Given the description of an element on the screen output the (x, y) to click on. 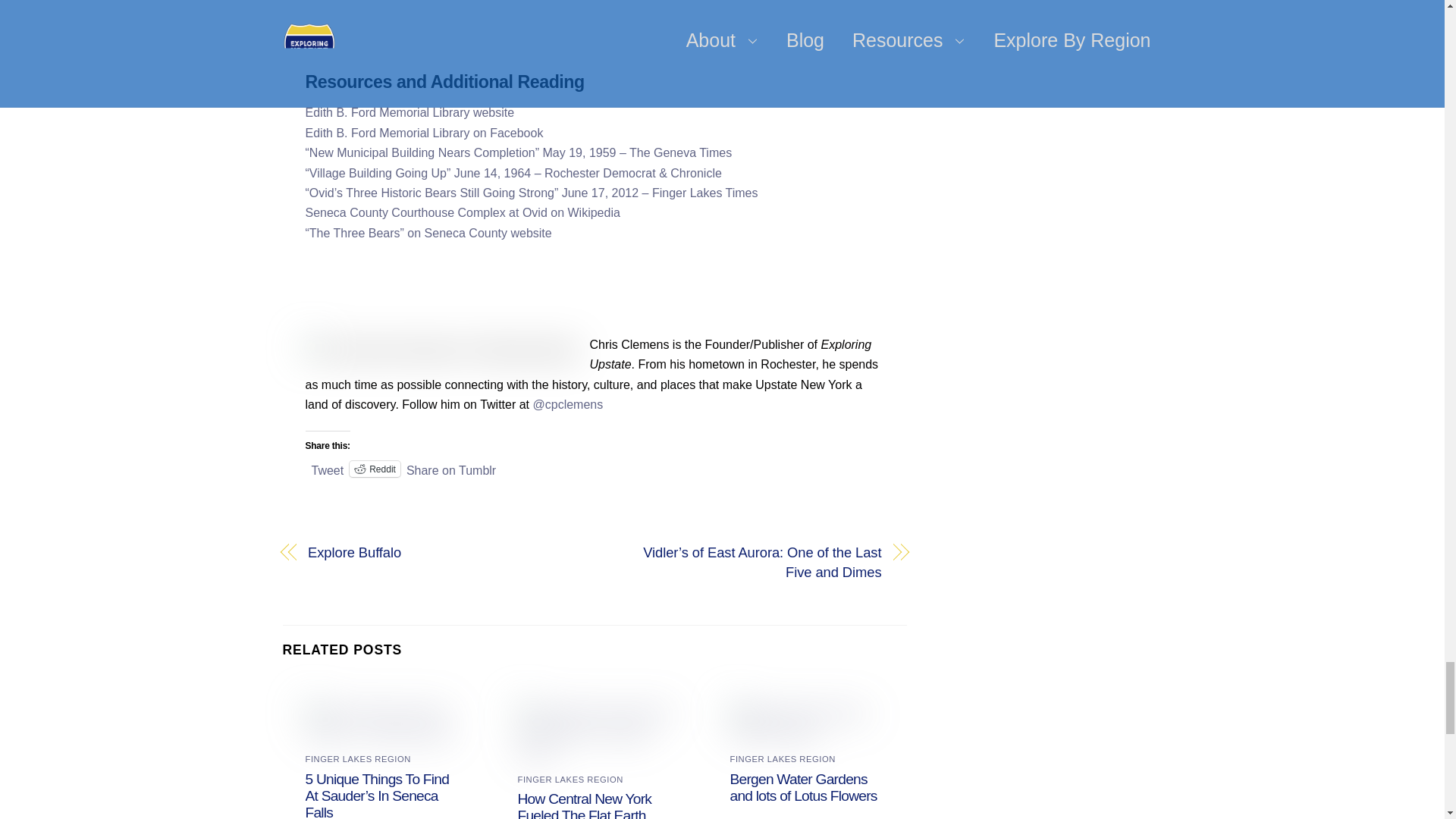
Seneca County Courthouse Complex at Ovid on Wikipedia (462, 212)
Click to share on Reddit (374, 448)
Share on Tumblr (451, 447)
Explore Buffalo (441, 532)
FINGER LAKES REGION (357, 718)
Reddit (374, 448)
Bergen Water Gardens and lots of Lotus Flowers (803, 747)
FINGER LAKES REGION (570, 718)
Edith B. Ford Memorial Library website (408, 112)
How Central New York Fueled The Flat Earth Debate (585, 755)
